Given the description of an element on the screen output the (x, y) to click on. 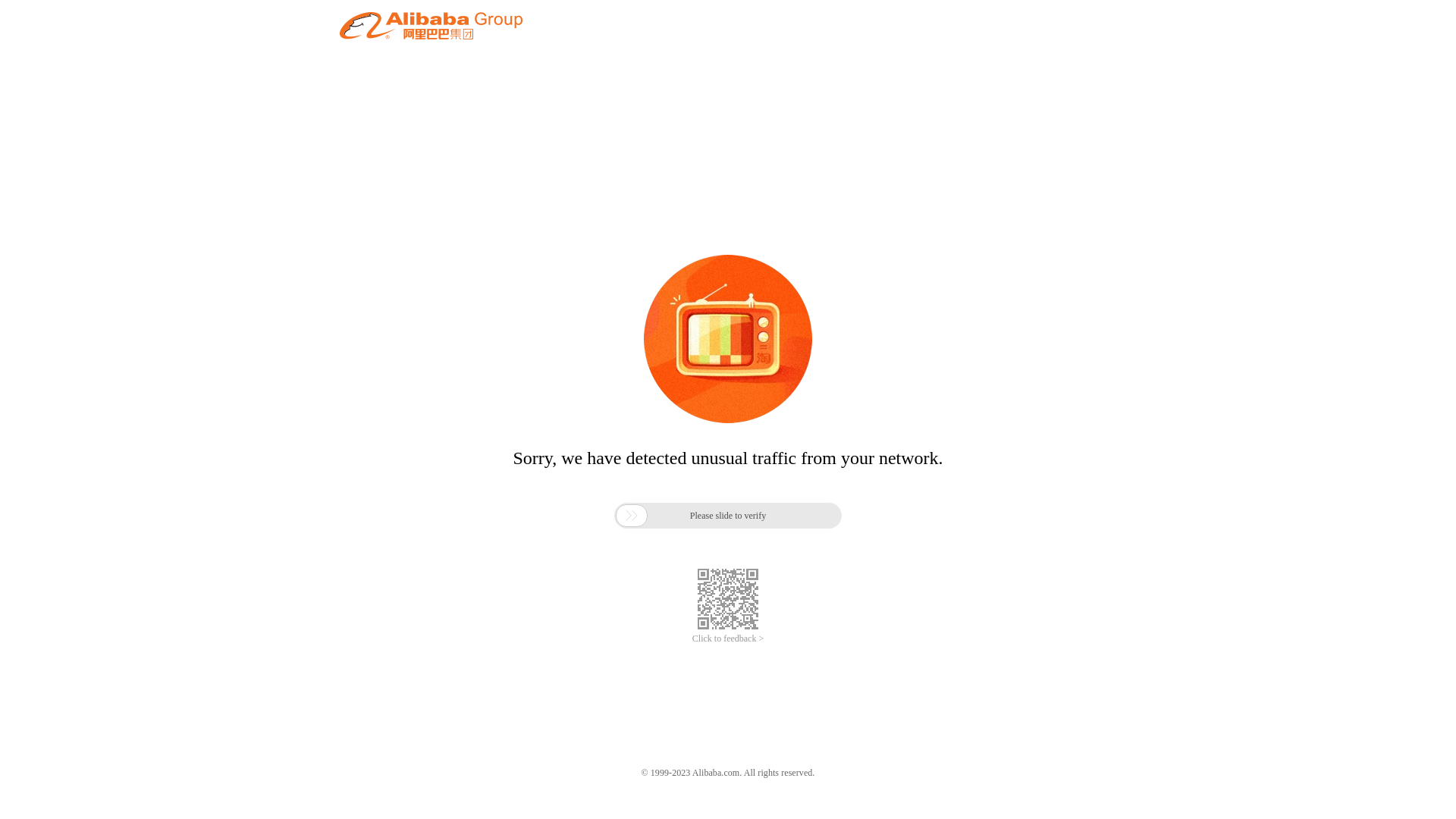
Click to feedback > Element type: text (727, 638)
